Given the description of an element on the screen output the (x, y) to click on. 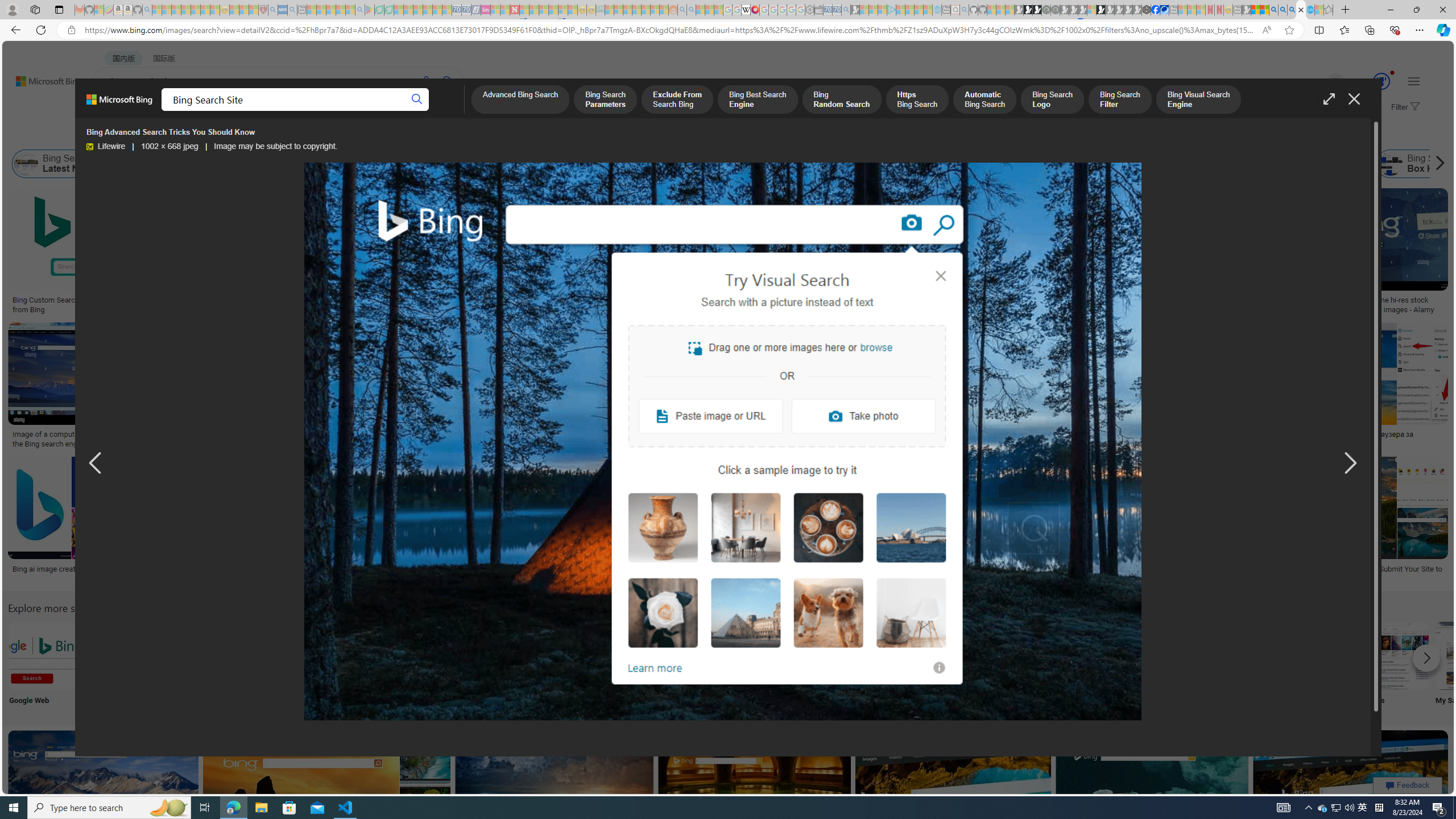
Bing Search App Logo (118, 654)
Bing Custom Search: A New Site Search Solution from Bing (96, 304)
Bing Advanced Search Tricks You Should KnowSave (462, 252)
Color (173, 135)
Web Searching | Computer Applications for Managers (850, 573)
Bing ai image creatorSave (66, 521)
Internet Explorer Bing Search Internet Explorer (192, 665)
